Given the description of an element on the screen output the (x, y) to click on. 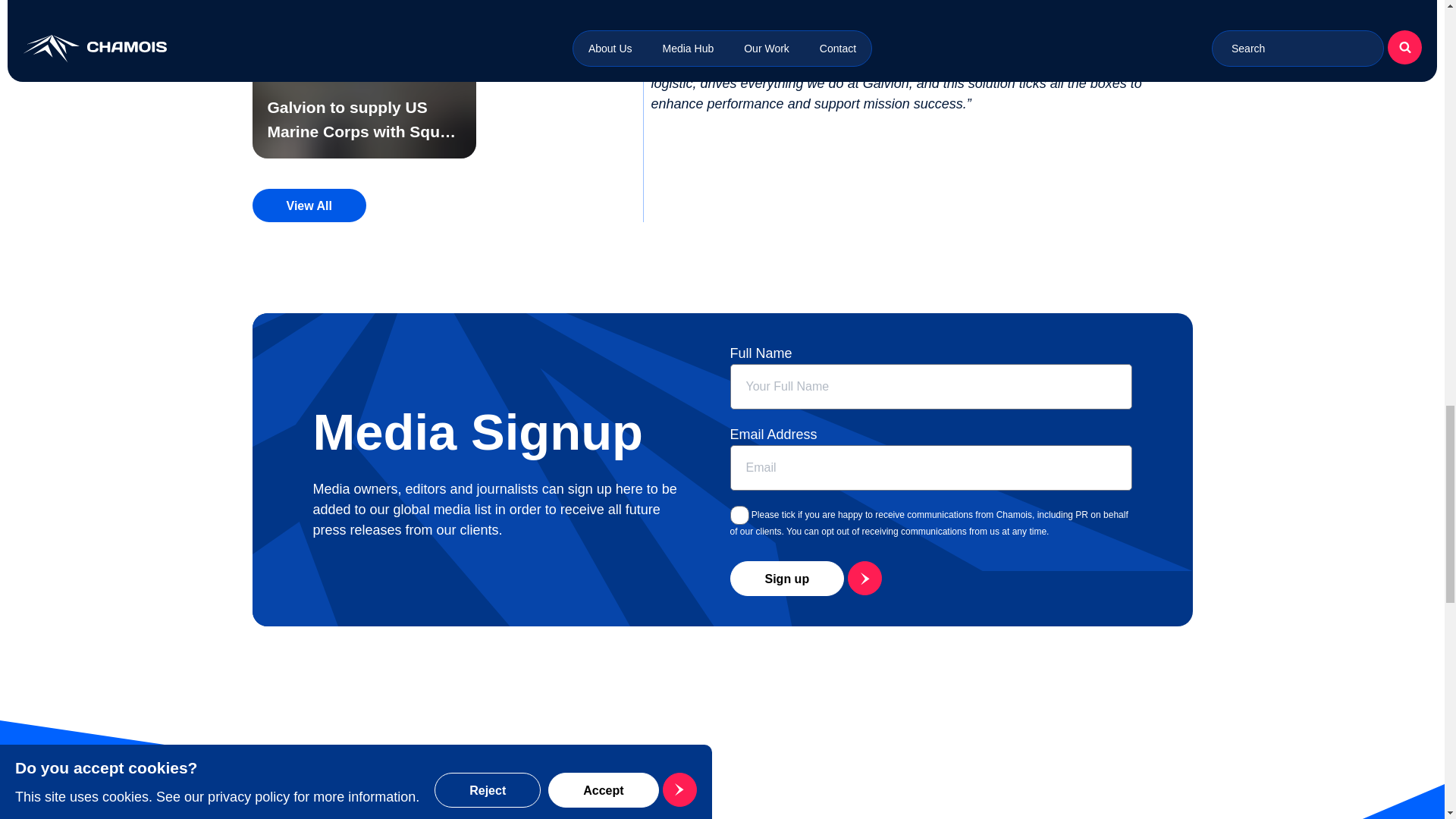
Sign up (803, 578)
1 (738, 515)
View All (308, 205)
